Given the description of an element on the screen output the (x, y) to click on. 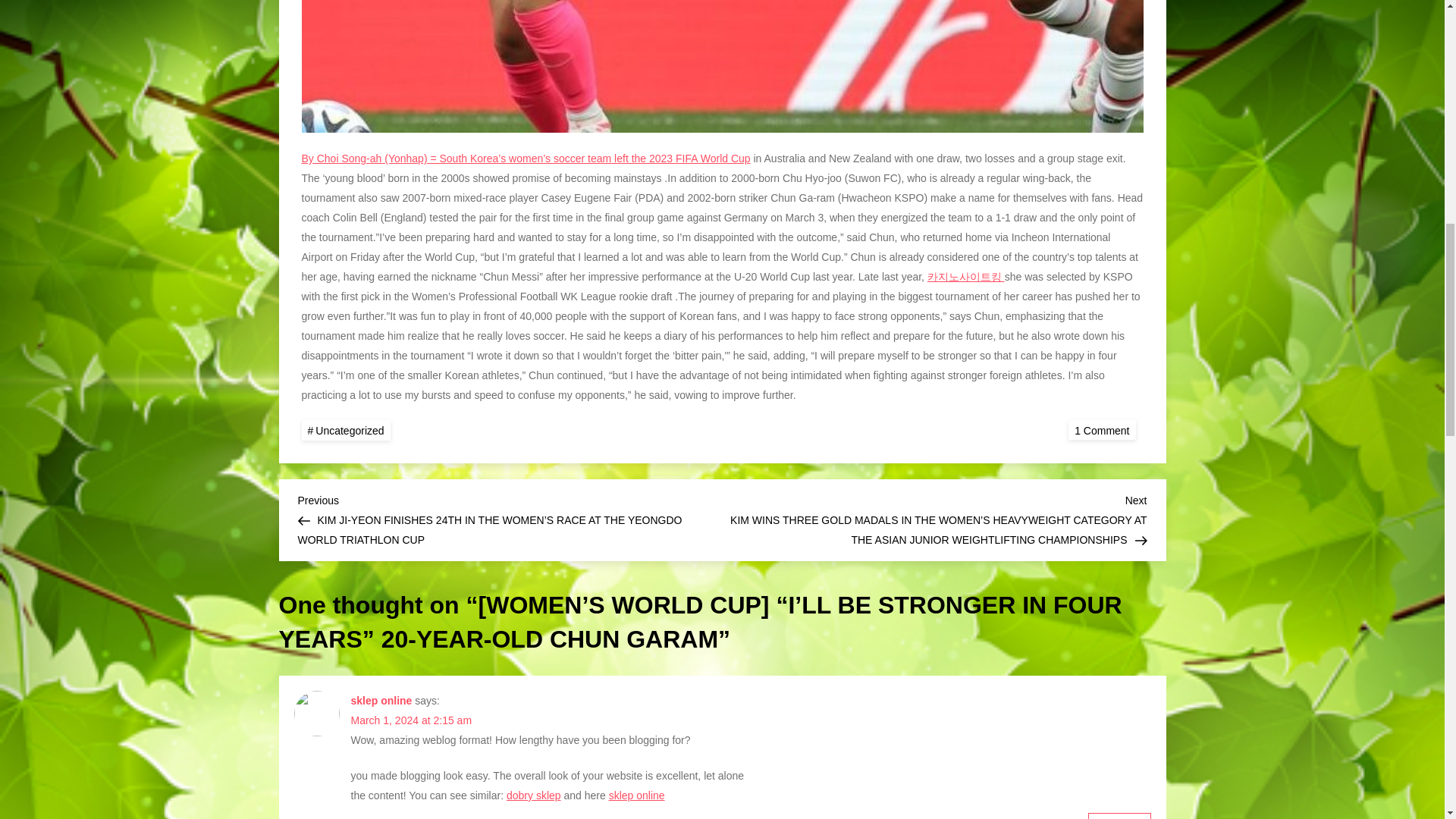
Uncategorized (345, 430)
dobry sklep (533, 795)
March 1, 2024 at 2:15 am (410, 720)
sklep online (381, 700)
sklep online (636, 795)
REPLY (1119, 816)
